Given the description of an element on the screen output the (x, y) to click on. 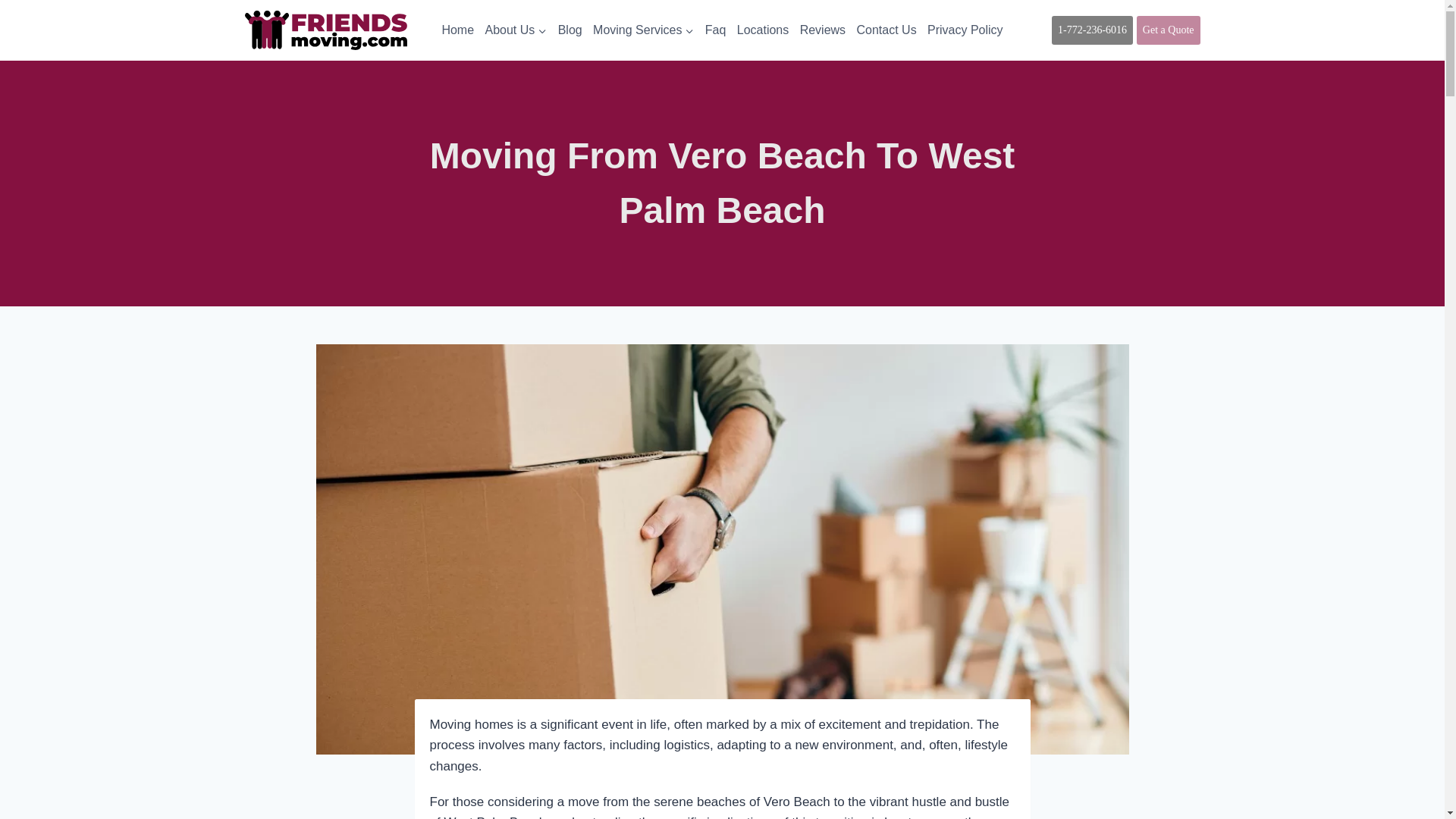
Blog (568, 29)
Contact Us (885, 29)
1-772-236-6016 (1091, 29)
Home (457, 29)
Reviews (821, 29)
Privacy Policy (965, 29)
Faq (716, 29)
Locations (763, 29)
About Us (515, 29)
1-772-236-6016 (1091, 30)
